Given the description of an element on the screen output the (x, y) to click on. 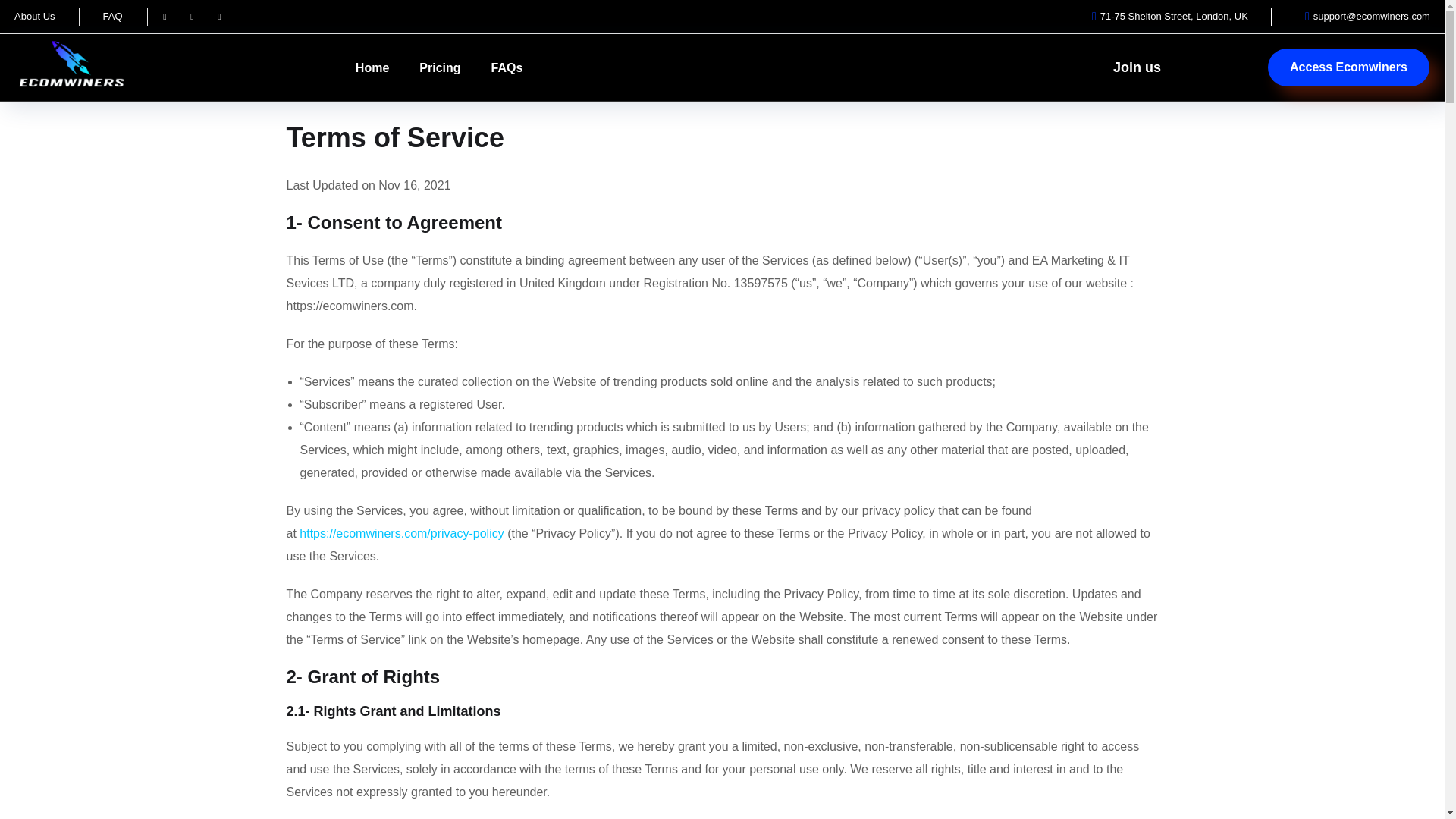
Access Ecomwiners (1348, 67)
FAQ (112, 16)
Join us (1136, 67)
71-75 Shelton Street, London, UK (1164, 16)
About Us (34, 16)
